Given the description of an element on the screen output the (x, y) to click on. 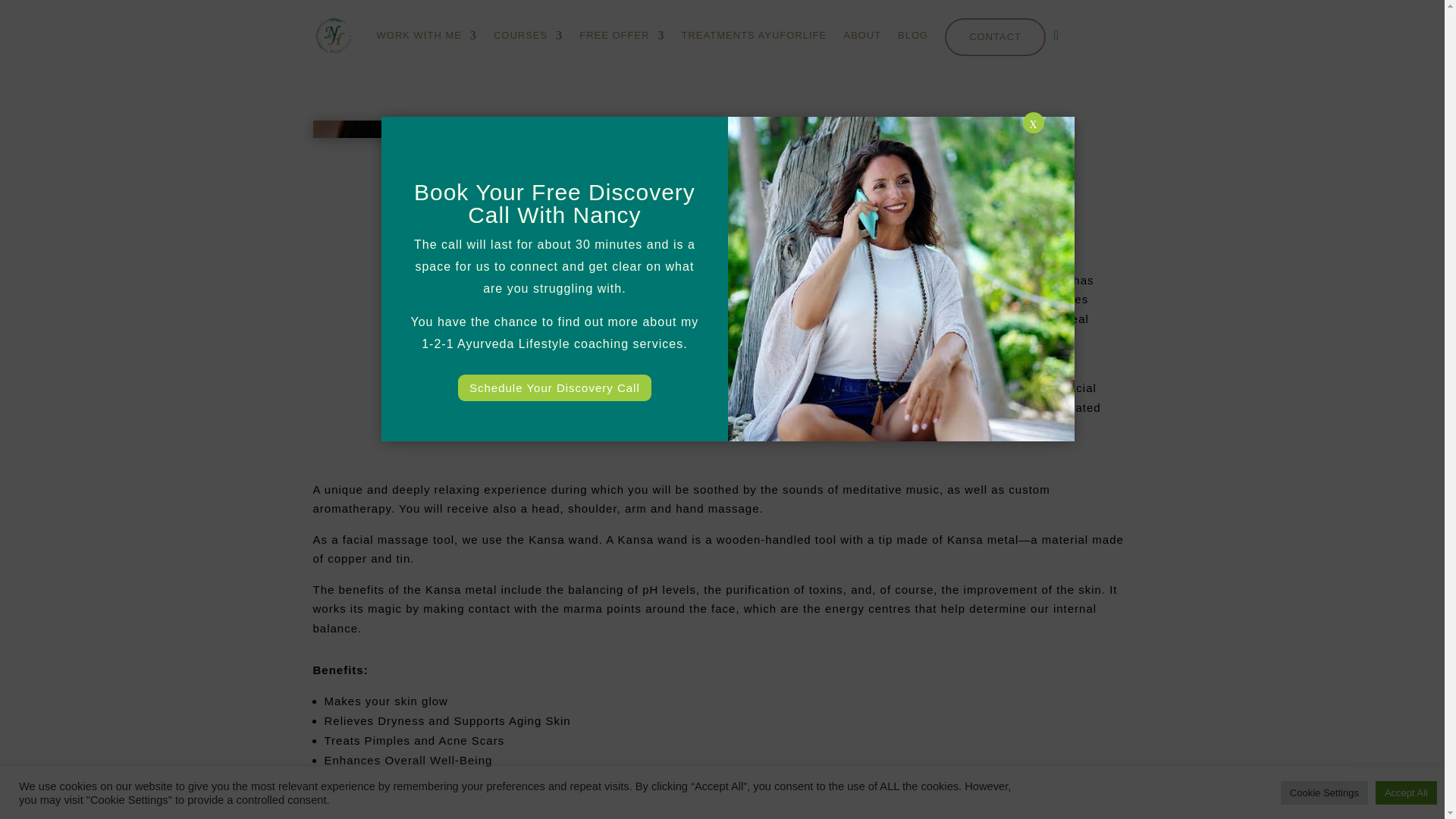
FREE OFFER (621, 35)
CONTACT (994, 37)
COURSES (527, 35)
WORK WITH ME (425, 35)
TREATMENTS AYUFORLIFE (754, 35)
